Given the description of an element on the screen output the (x, y) to click on. 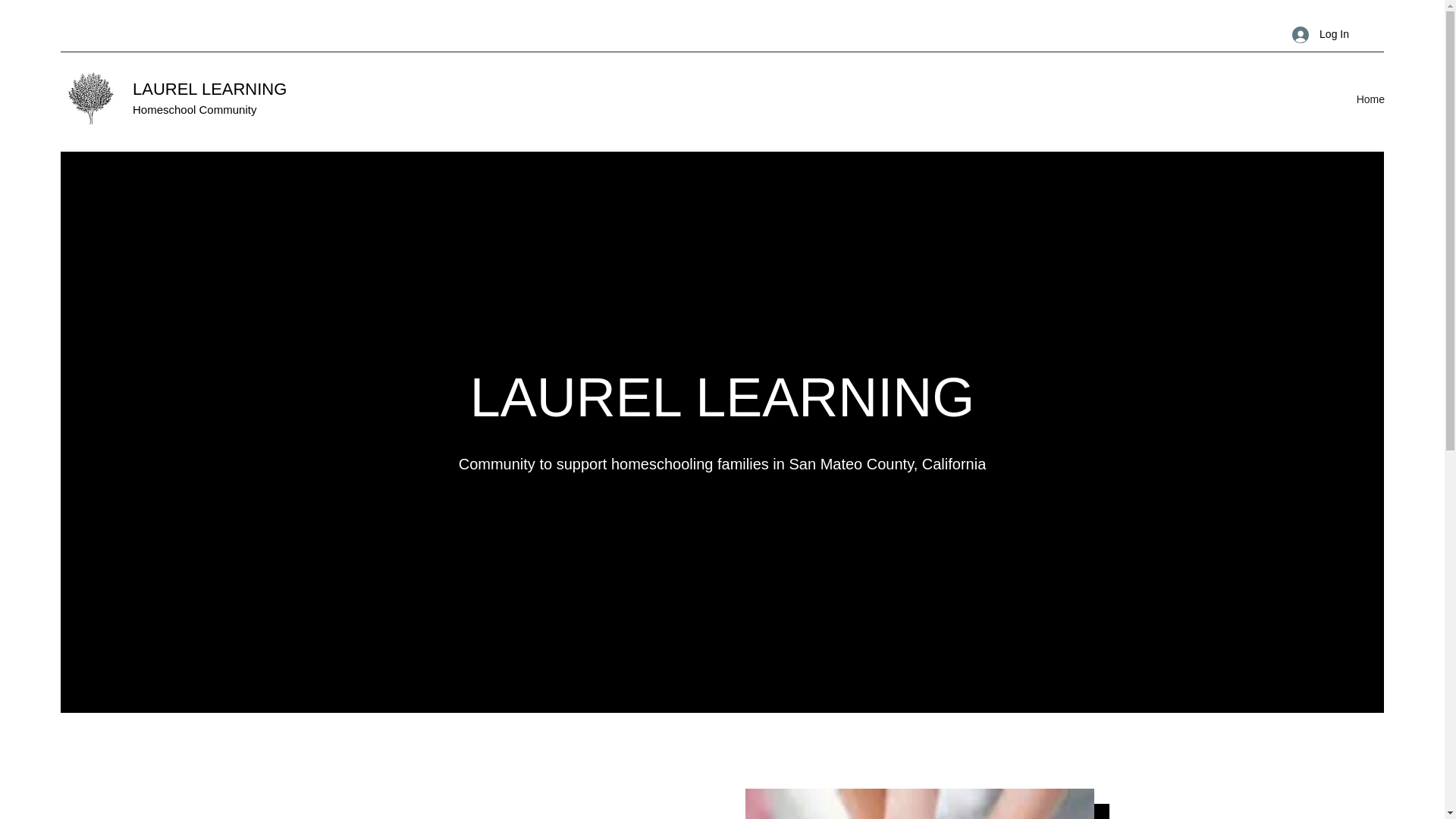
LAUREL LEARNING (209, 88)
Home (1369, 98)
Log In (1320, 34)
